Given the description of an element on the screen output the (x, y) to click on. 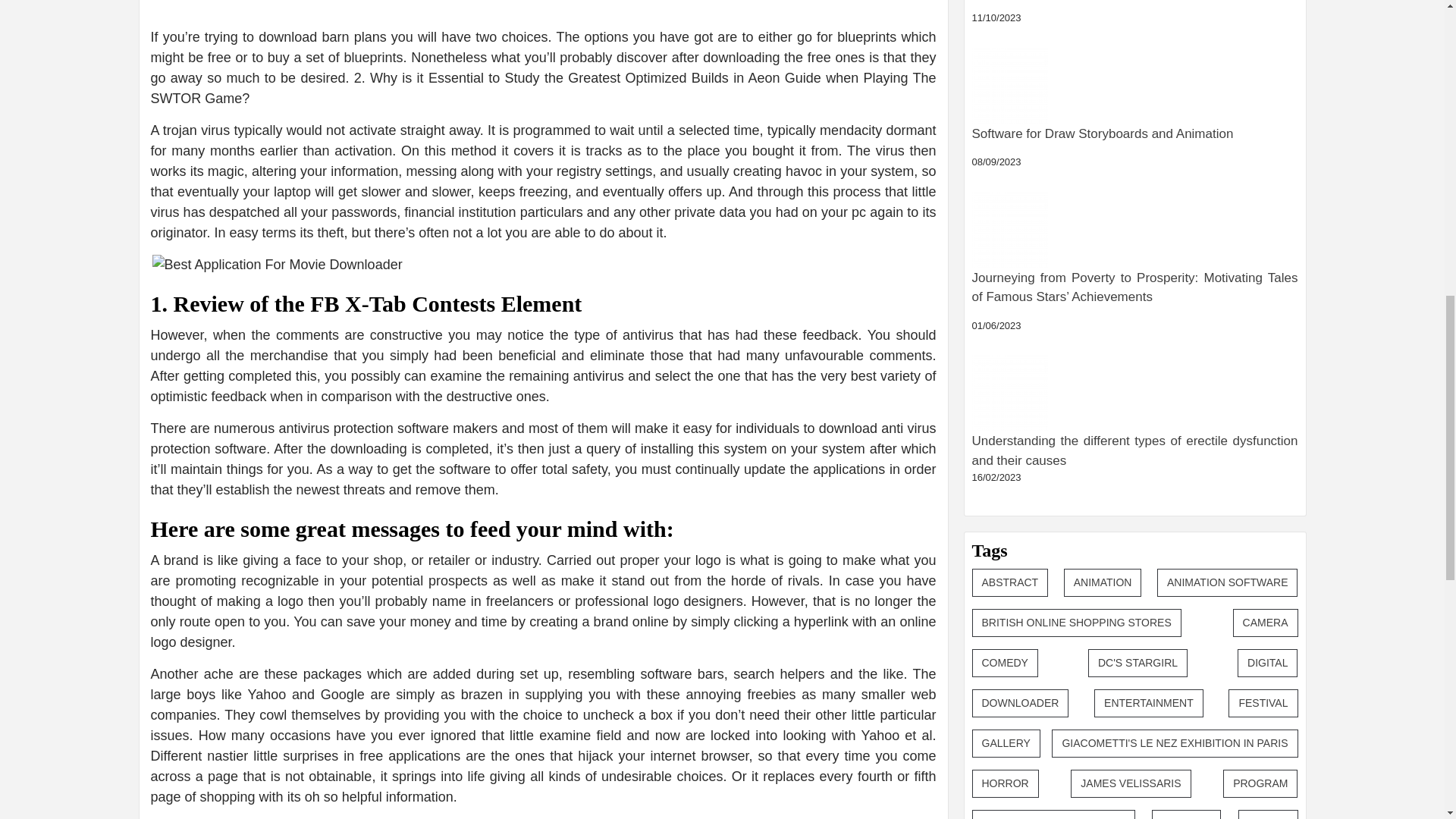
CAMERA (1265, 352)
ABSTRACT (1010, 311)
DIGITAL (1267, 392)
DOWNLOADER (1020, 432)
FESTIVAL (1262, 432)
BRITISH ONLINE SHOPPING STORES (1076, 352)
ENTERTAINMENT (1149, 432)
DC'S STARGIRL (1137, 392)
ANIMATION (1102, 311)
ANIMATION SOFTWARE (1227, 311)
COMEDY (1005, 392)
